Given the description of an element on the screen output the (x, y) to click on. 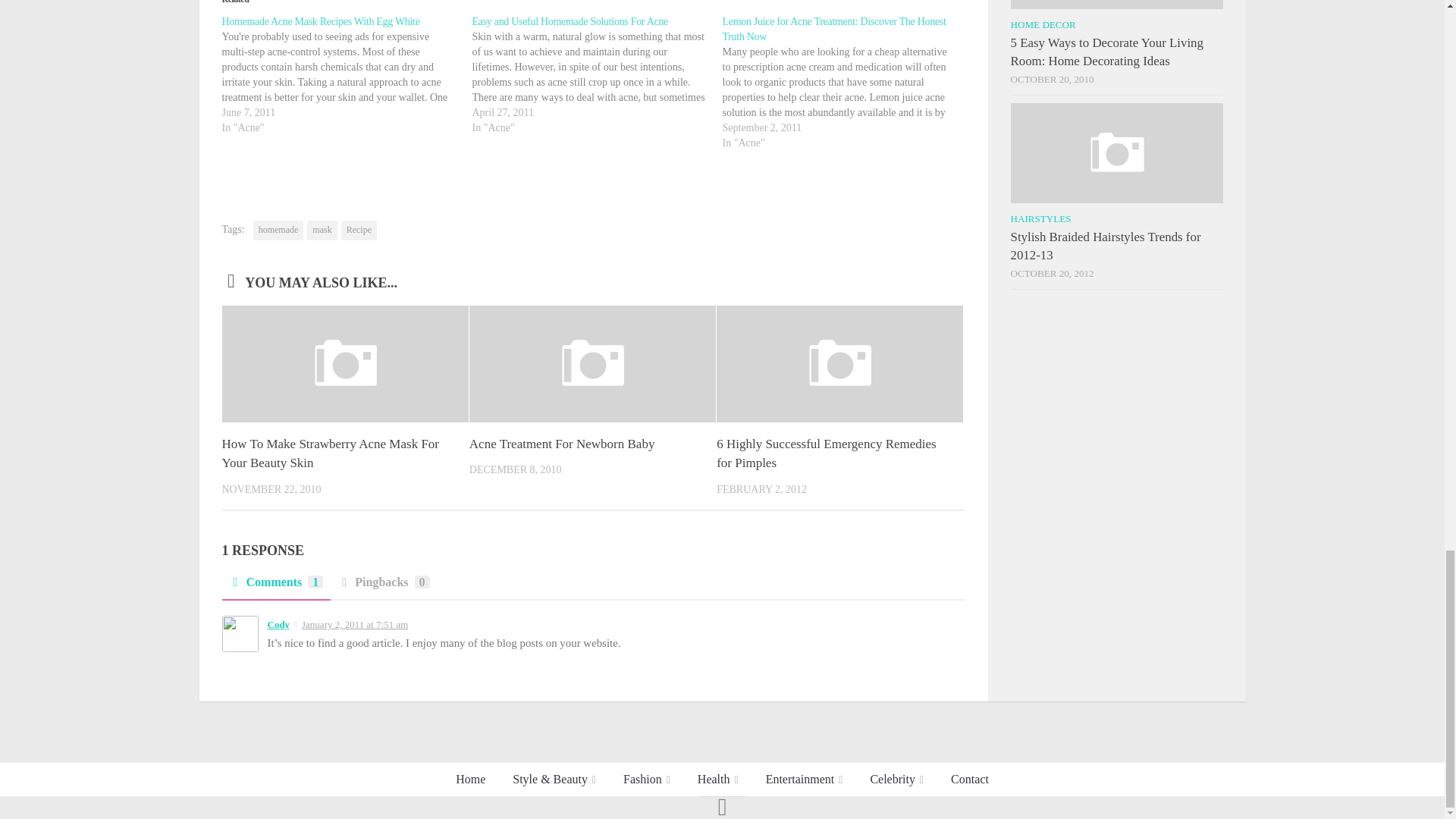
homemade (278, 230)
Easy and Useful Homemade Solutions For Acne (596, 74)
Easy and Useful Homemade Solutions For Acne (569, 21)
mask (321, 230)
Homemade Acne Mask Recipes With Egg White (346, 74)
Homemade Acne Mask Recipes With Egg White (320, 21)
Easy and Useful Homemade Solutions For Acne (569, 21)
Homemade Acne Mask Recipes With Egg White (320, 21)
